Given the description of an element on the screen output the (x, y) to click on. 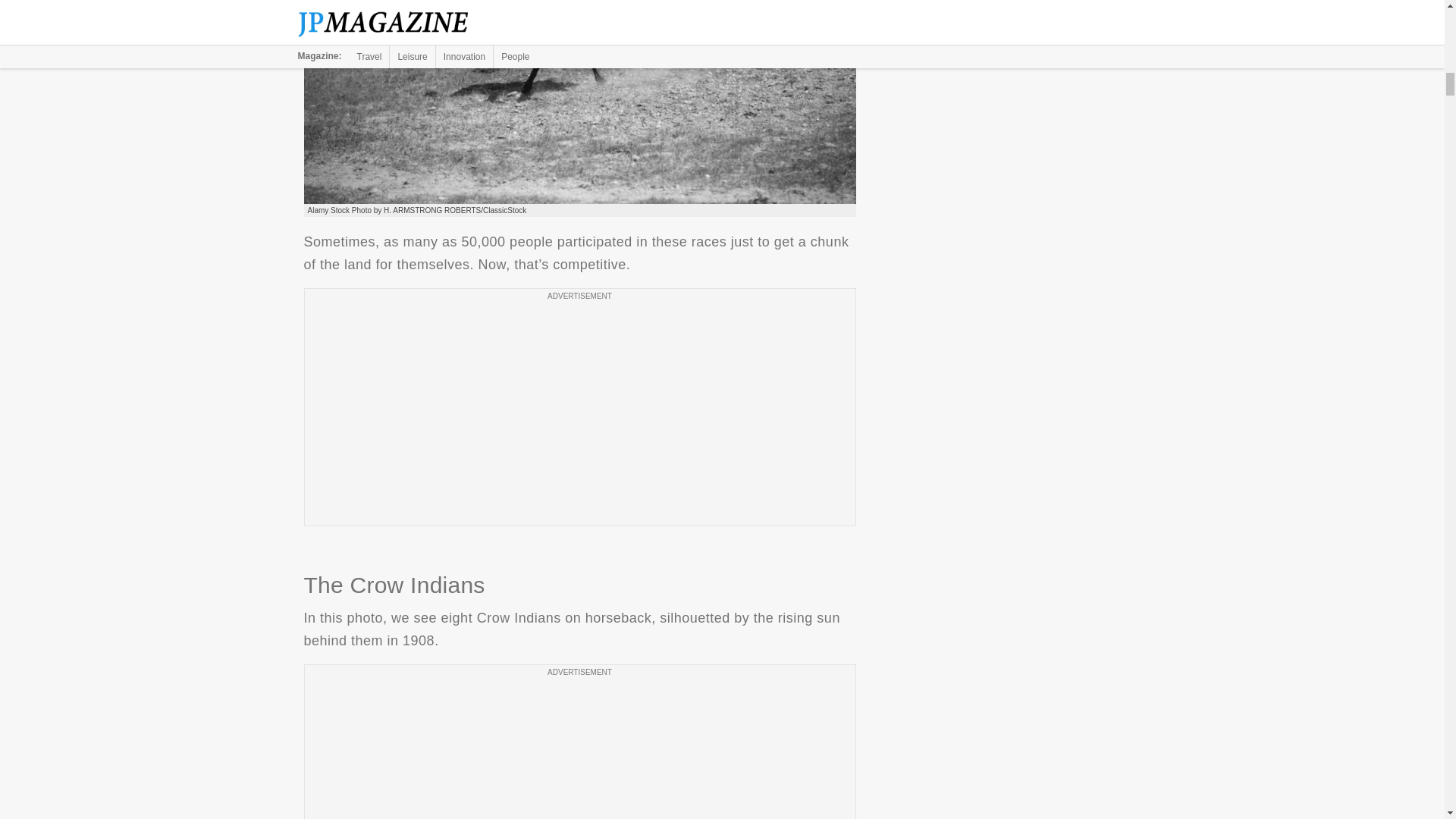
The Land Rushes (579, 101)
